Given the description of an element on the screen output the (x, y) to click on. 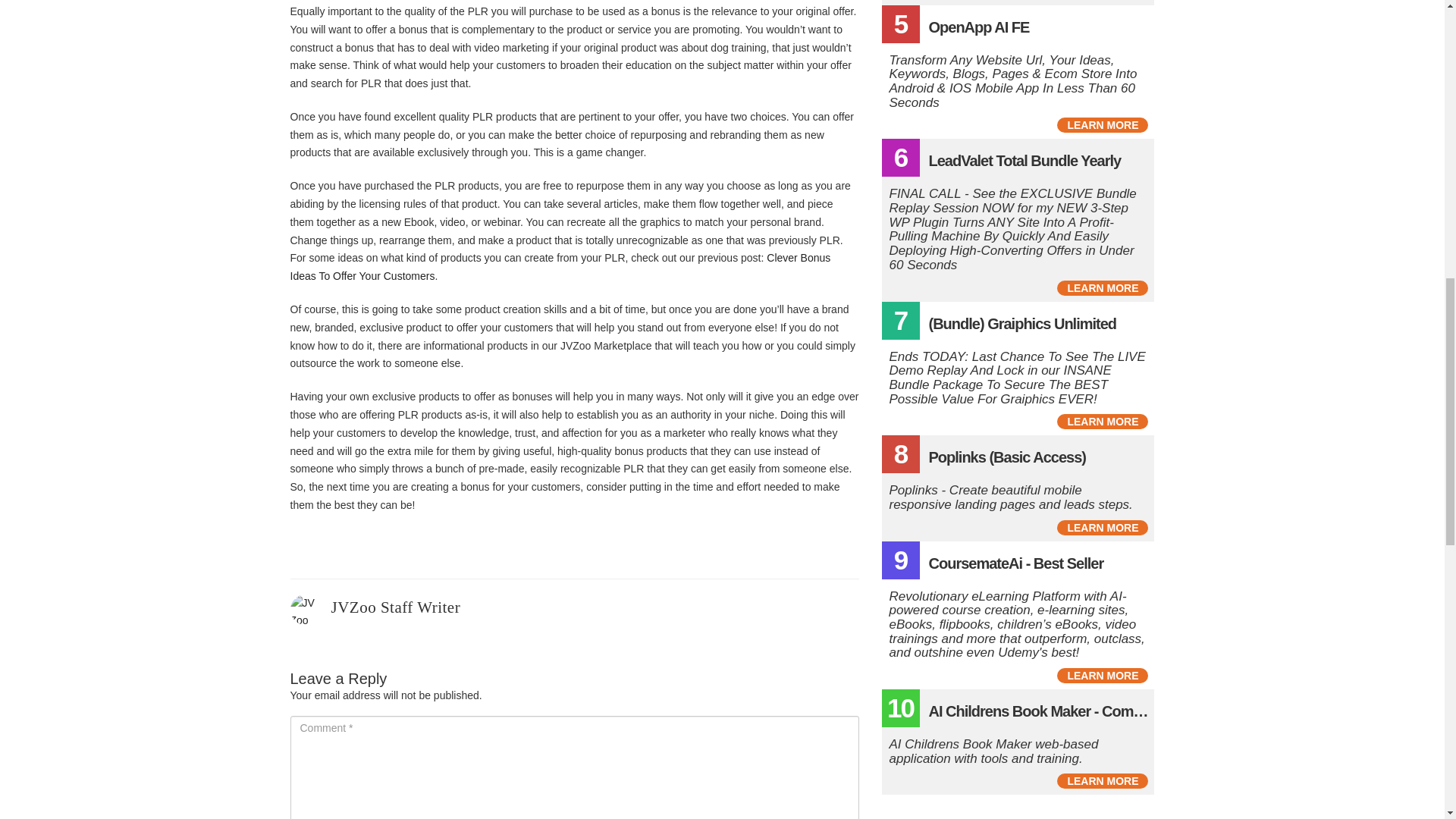
LEARN MORE (1102, 287)
LEARN MORE (1102, 527)
LEARN MORE (1102, 675)
LEARN MORE (1102, 780)
LEARN MORE (1102, 421)
LEARN MORE (1102, 124)
Clever Bonus Ideas To Offer Your Customers (559, 266)
JVZoo Staff Writer (395, 607)
